Given the description of an element on the screen output the (x, y) to click on. 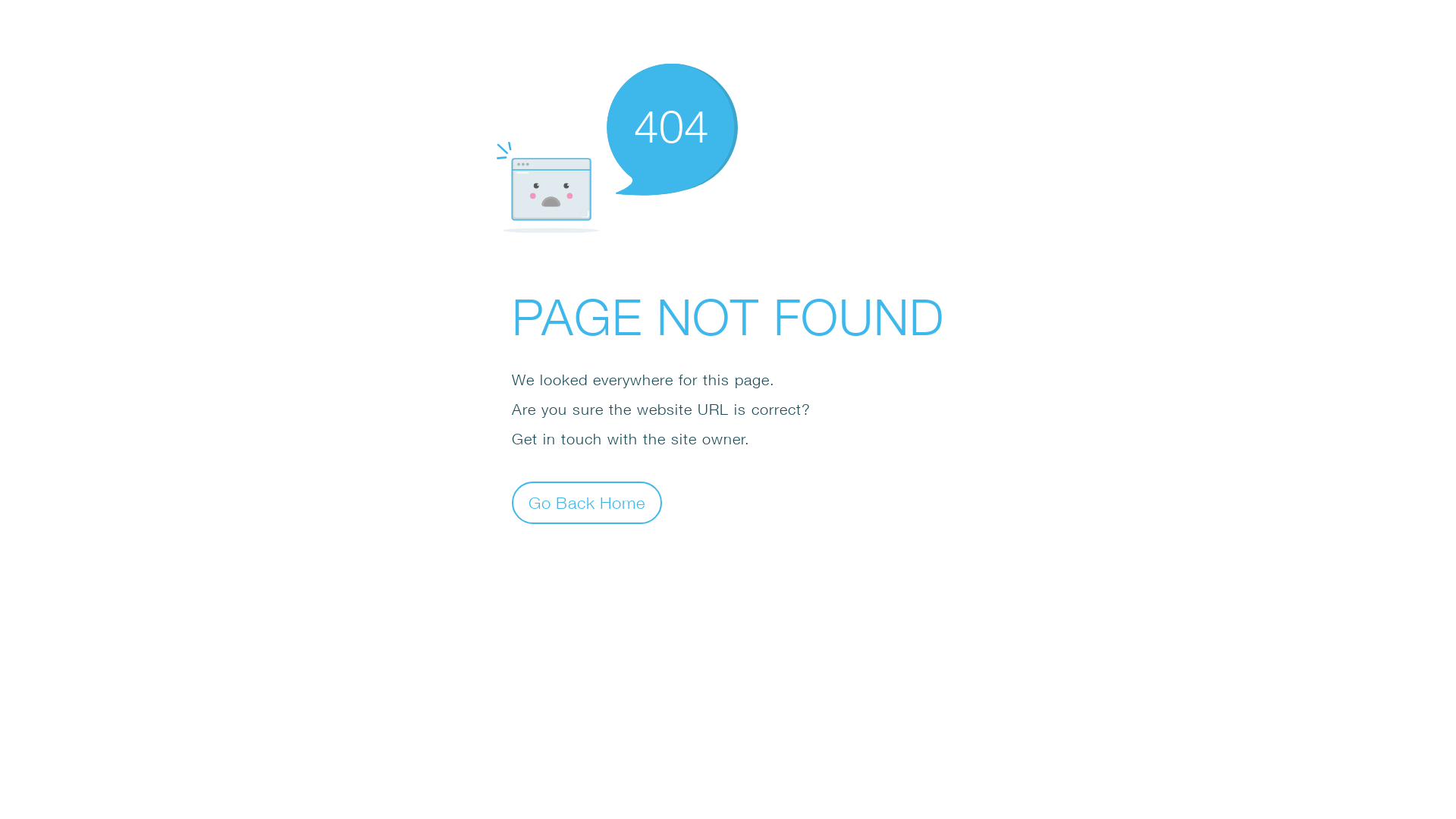
Go Back Home Element type: text (586, 502)
